Given the description of an element on the screen output the (x, y) to click on. 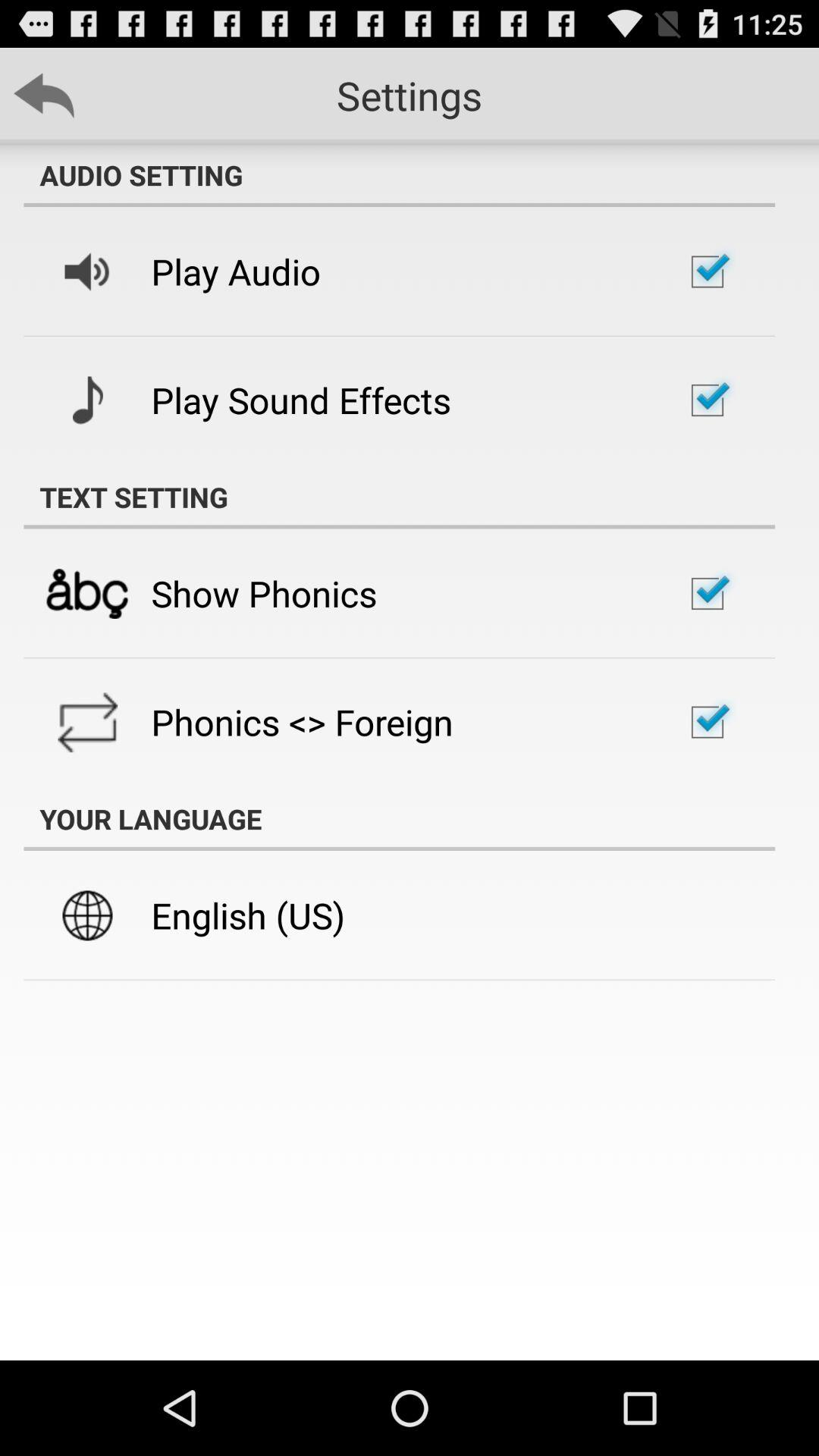
select app above text setting app (301, 399)
